Given the description of an element on the screen output the (x, y) to click on. 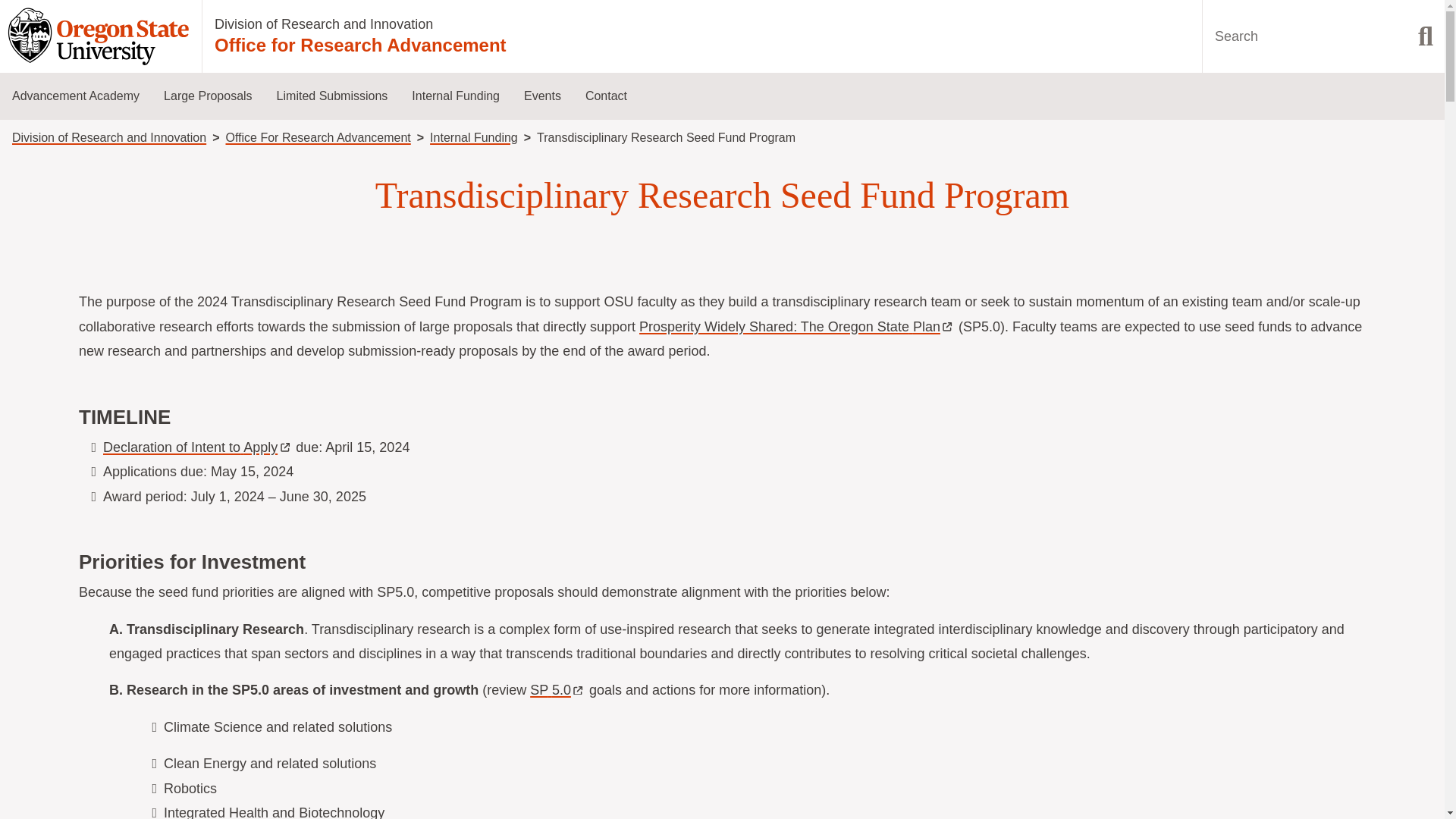
Internal Funding (455, 96)
Large Proposals (207, 96)
Office For Research Advancement (317, 137)
Contact (606, 96)
Major Annual Limited Submission Opportunities (346, 187)
Link is external (285, 443)
Office for Research Advancement (360, 45)
Internal Funding (473, 137)
About the Academy (81, 313)
Transdisciplinary Research Seed Fund Program (480, 299)
